Given the description of an element on the screen output the (x, y) to click on. 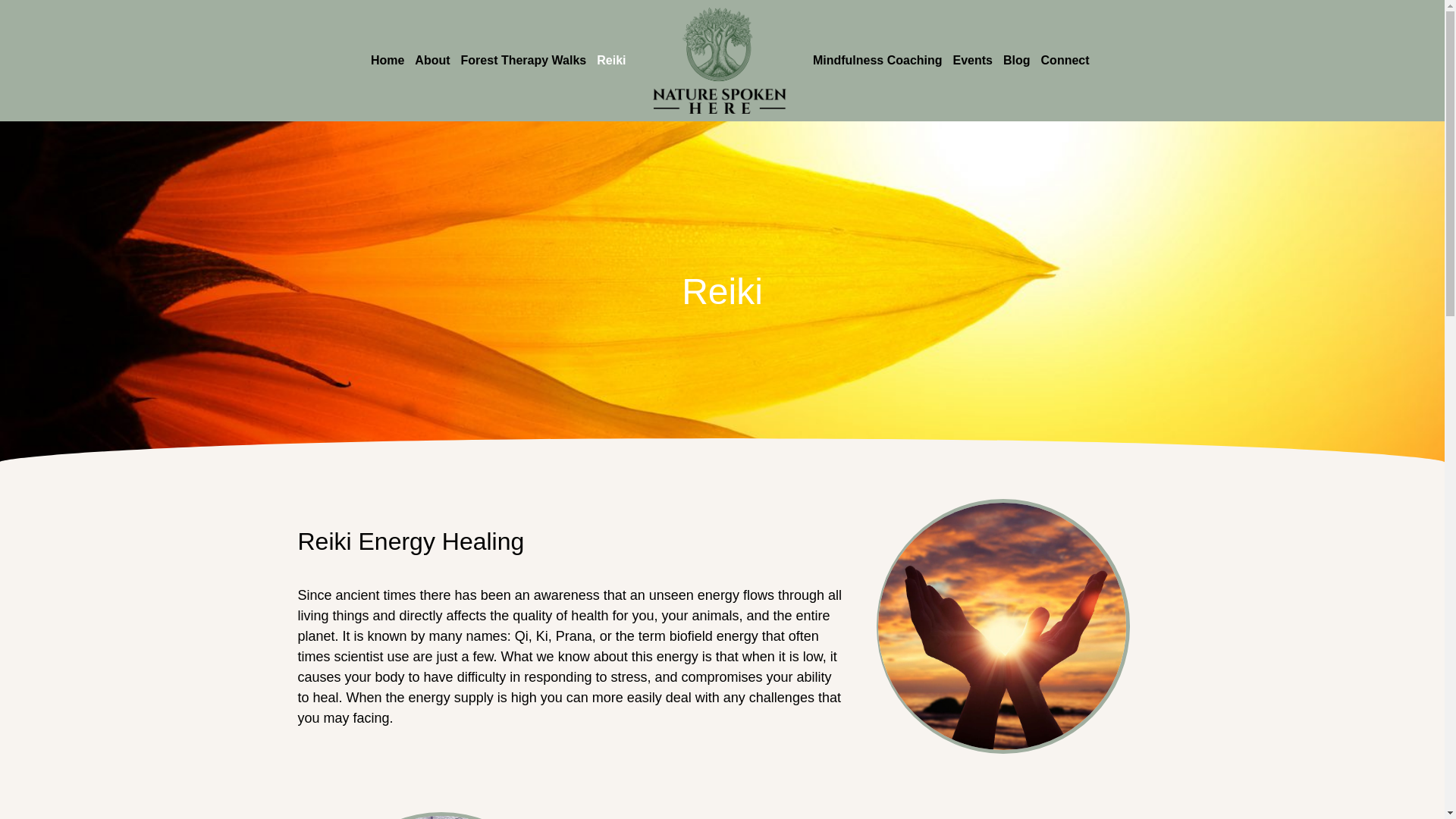
About (431, 60)
Forest Therapy Walks (523, 60)
Reiki (610, 60)
Home (387, 60)
